Given the description of an element on the screen output the (x, y) to click on. 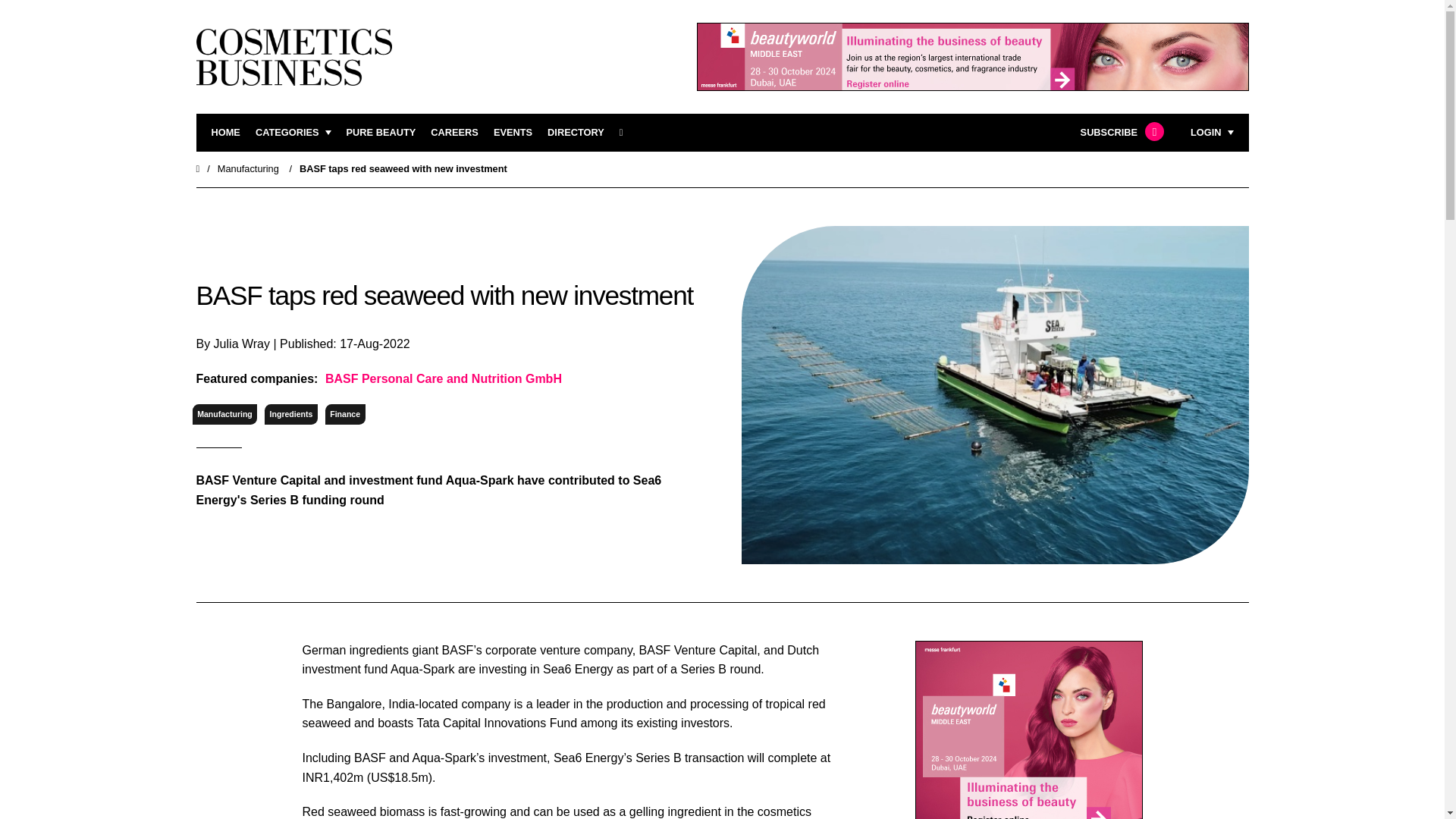
CAREERS (454, 133)
Pure Beauty (381, 133)
SUBSCRIBE (1120, 133)
BASF Personal Care and Nutrition GmbH (441, 379)
LOGIN (1212, 133)
PURE BEAUTY (381, 133)
Manufacturing (224, 414)
Ingredients (290, 414)
SEARCH (626, 133)
EVENTS (512, 133)
